Given the description of an element on the screen output the (x, y) to click on. 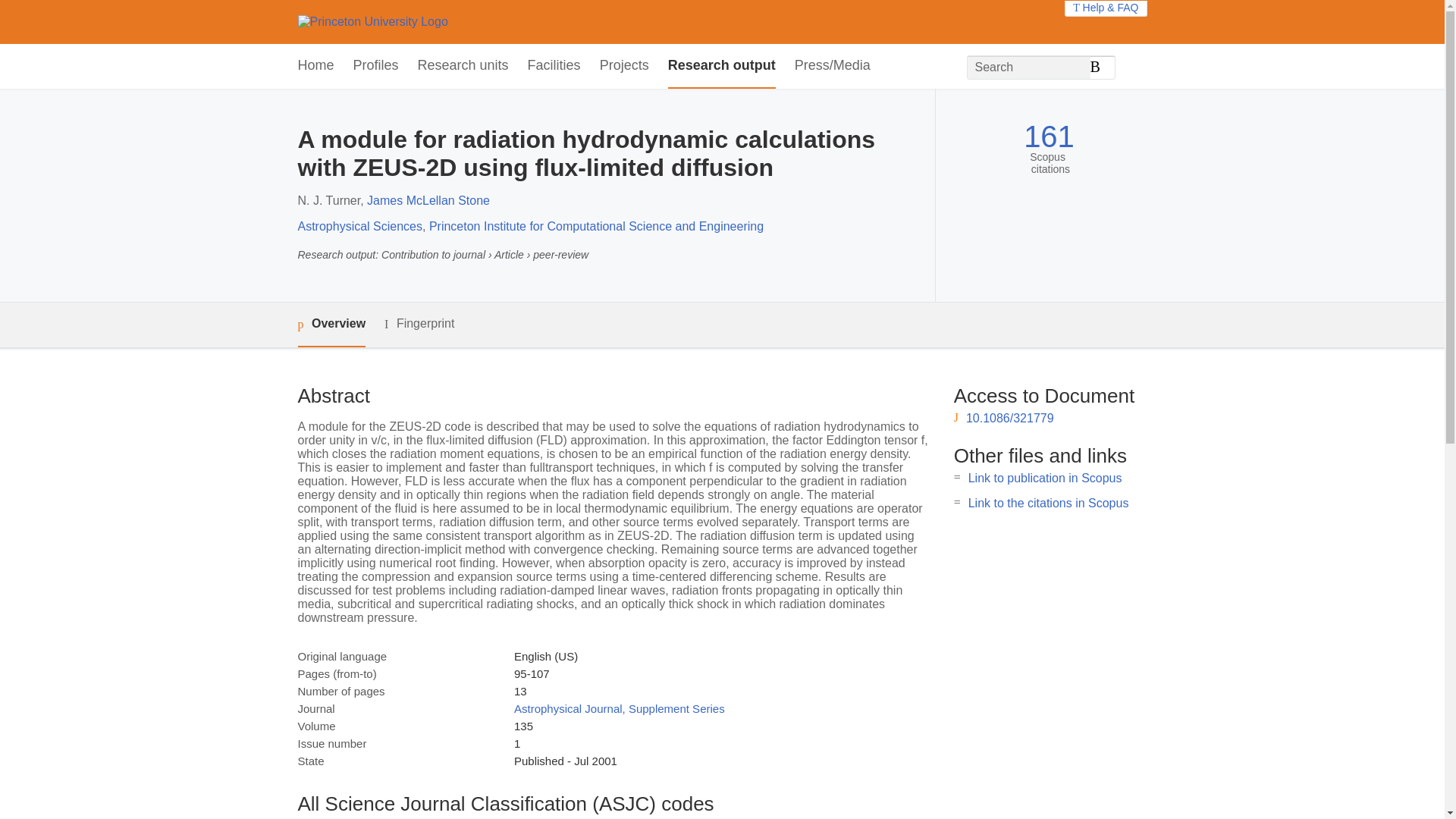
161 (1048, 136)
Astrophysical Journal, Supplement Series (619, 707)
Profiles (375, 66)
Research units (462, 66)
Overview (331, 324)
Link to publication in Scopus (1045, 477)
Projects (624, 66)
Princeton University Home (371, 21)
Facilities (553, 66)
